Given the description of an element on the screen output the (x, y) to click on. 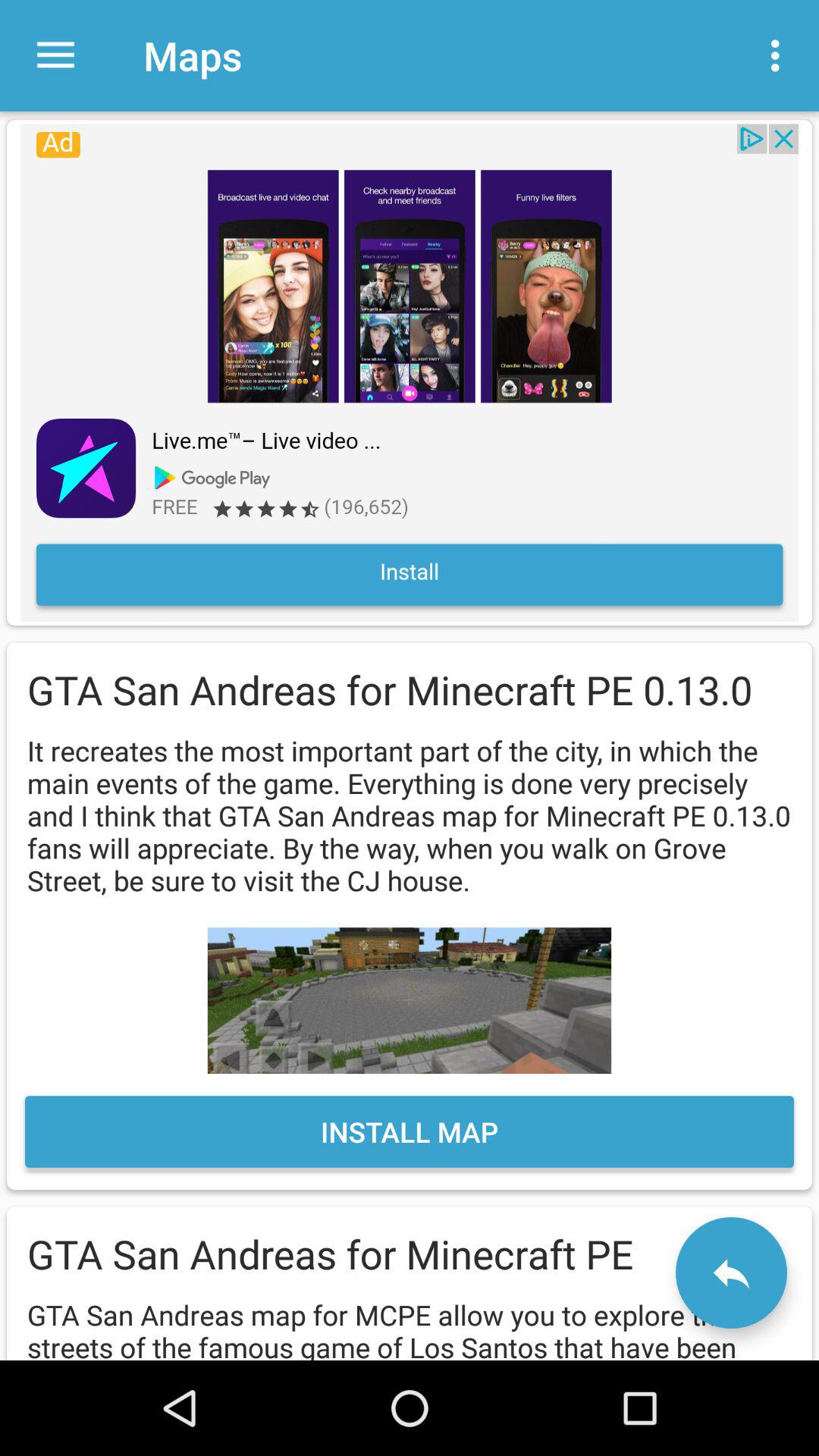
toggle advertisement (409, 372)
